Given the description of an element on the screen output the (x, y) to click on. 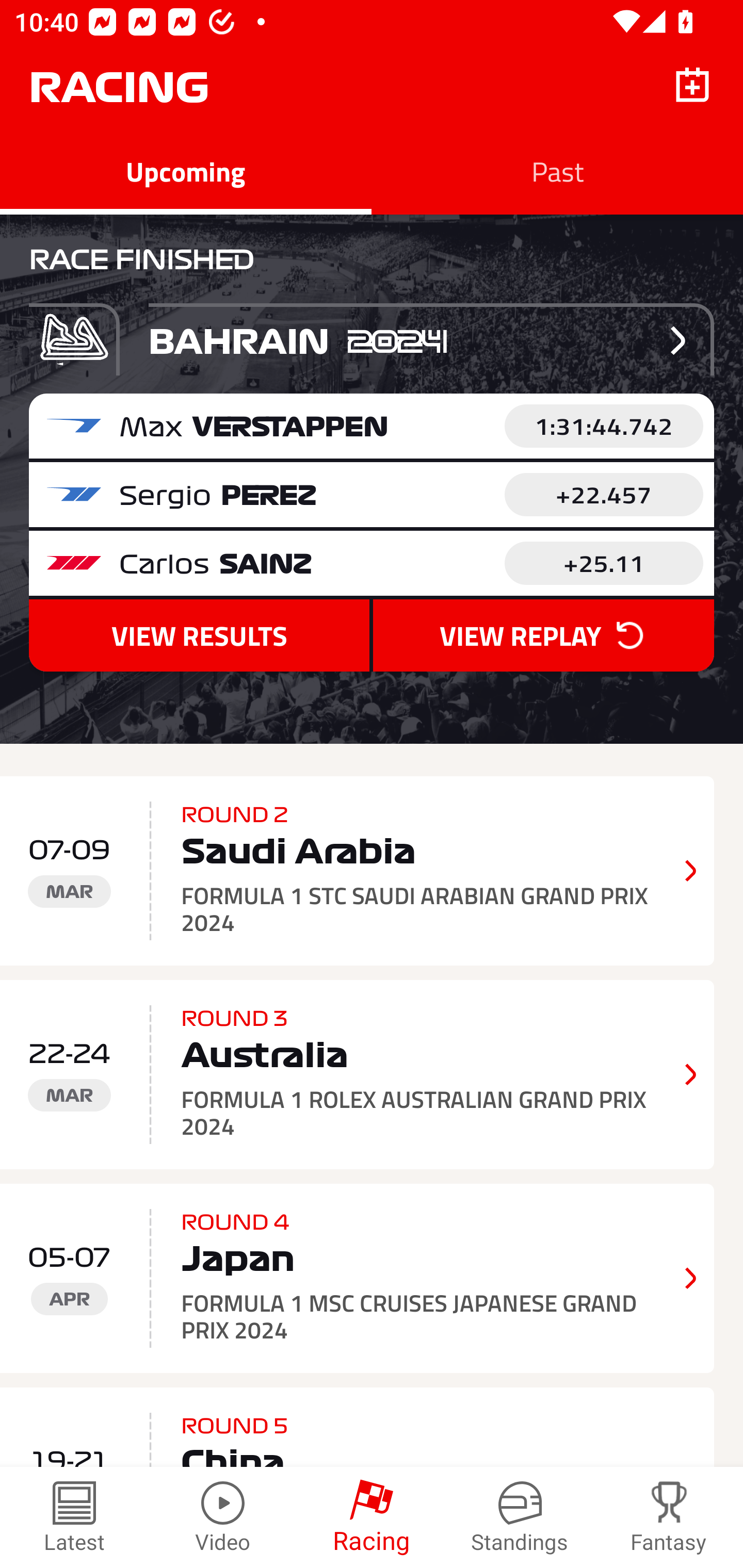
Past (557, 171)
VIEW RESULTS (198, 634)
VIEW REPLAY (543, 634)
Latest (74, 1517)
Video (222, 1517)
Standings (519, 1517)
Fantasy (668, 1517)
